Given the description of an element on the screen output the (x, y) to click on. 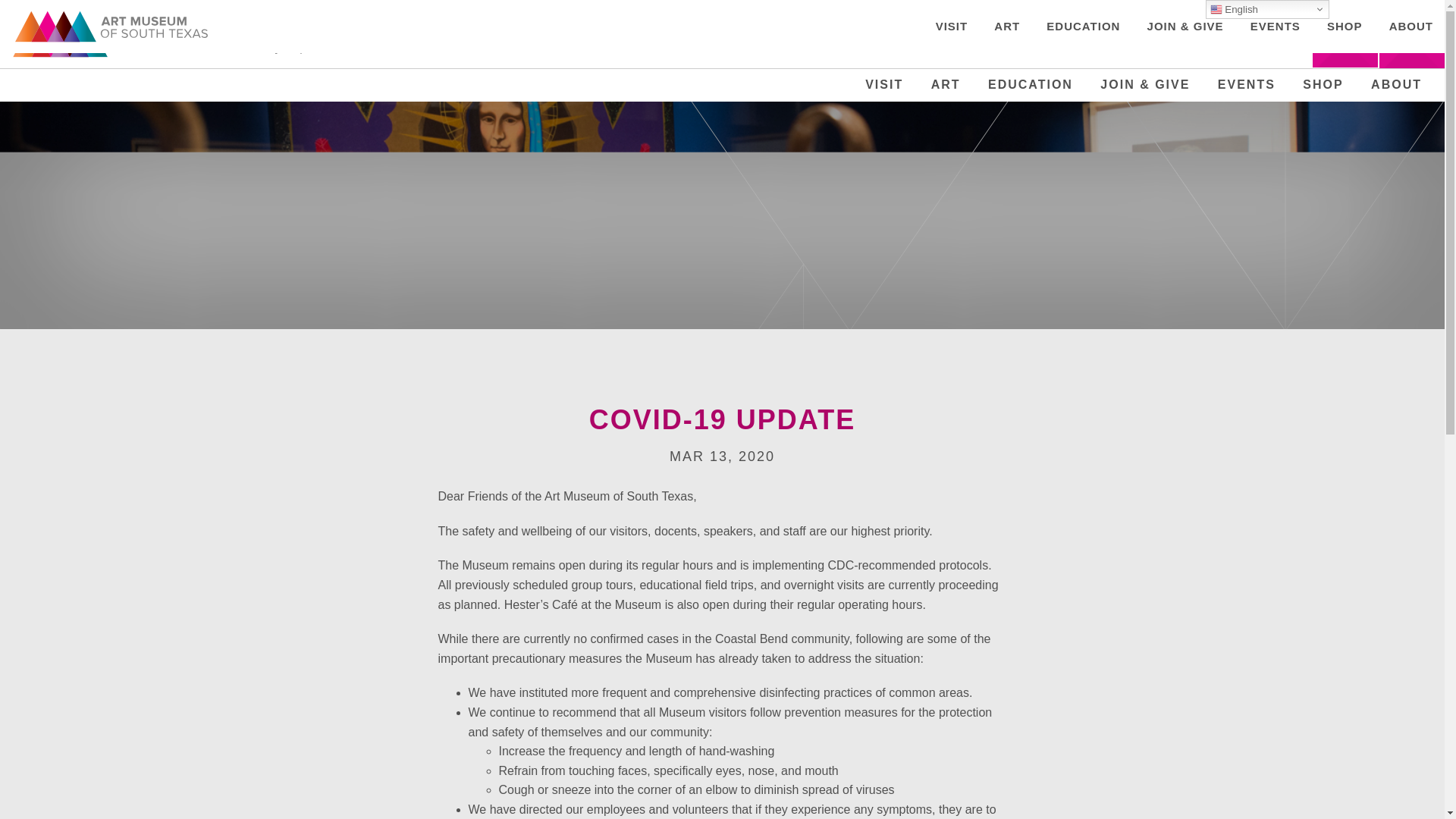
EVENTS (1247, 84)
SHOP (1322, 84)
Art (946, 84)
ABOUT (1395, 84)
Join (1345, 39)
VISIT (883, 84)
Education (1030, 84)
